Given the description of an element on the screen output the (x, y) to click on. 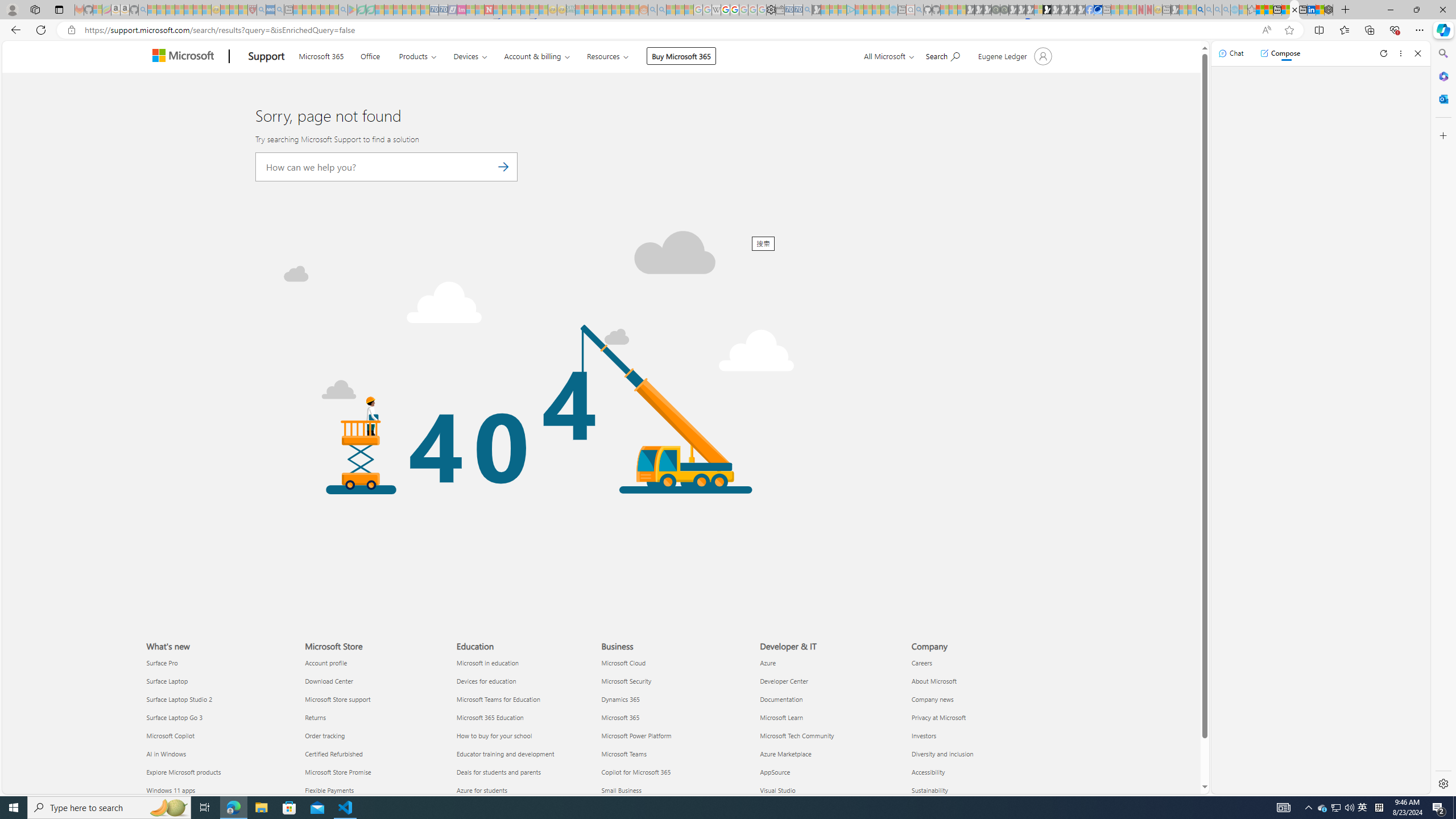
Local - MSN - Sleeping (242, 9)
Office (369, 54)
Documentation Developer & IT (781, 698)
How can we help you? (386, 166)
Privacy at Microsoft (980, 717)
Surface Pro (218, 662)
